Given the description of an element on the screen output the (x, y) to click on. 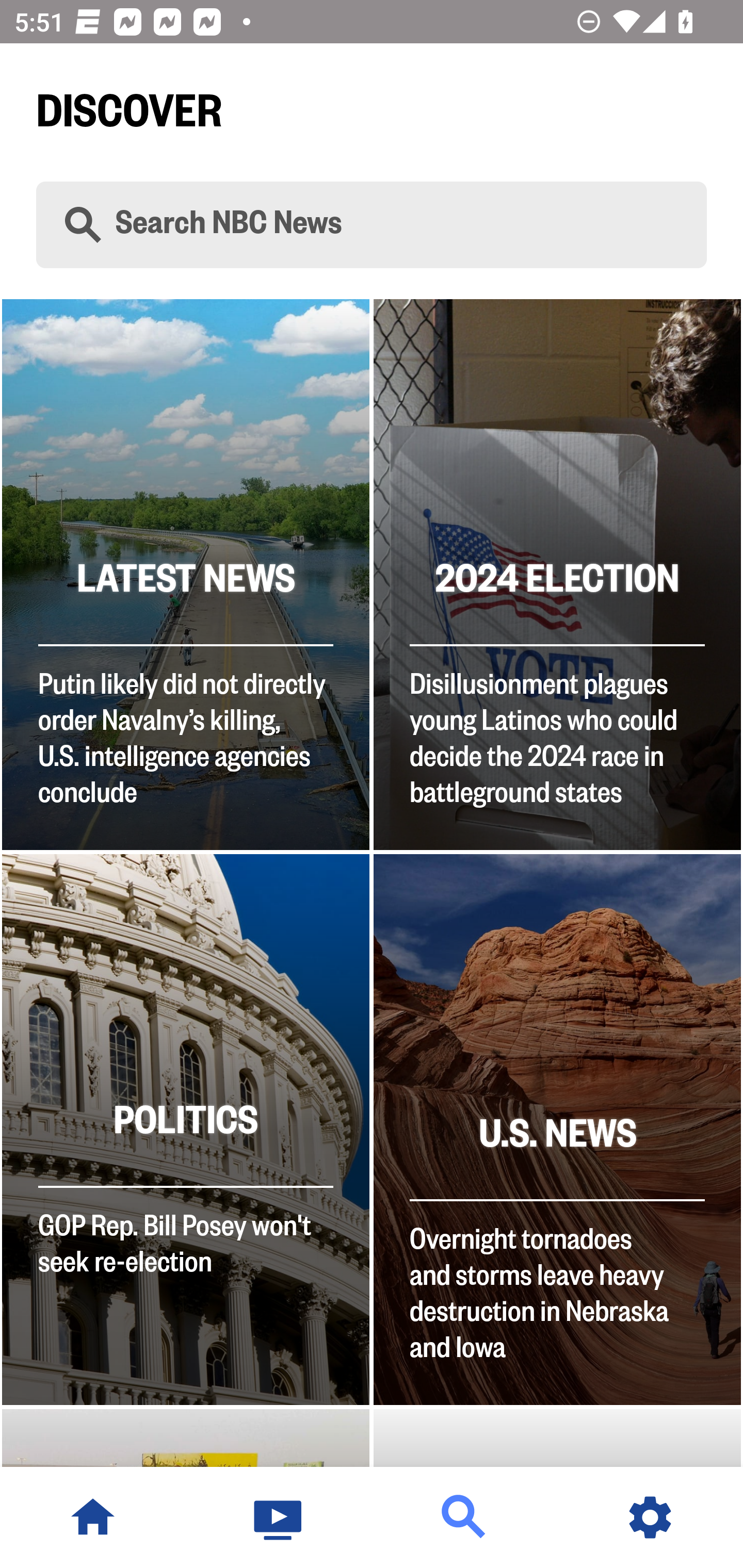
NBC News Home (92, 1517)
Watch (278, 1517)
Settings (650, 1517)
